Given the description of an element on the screen output the (x, y) to click on. 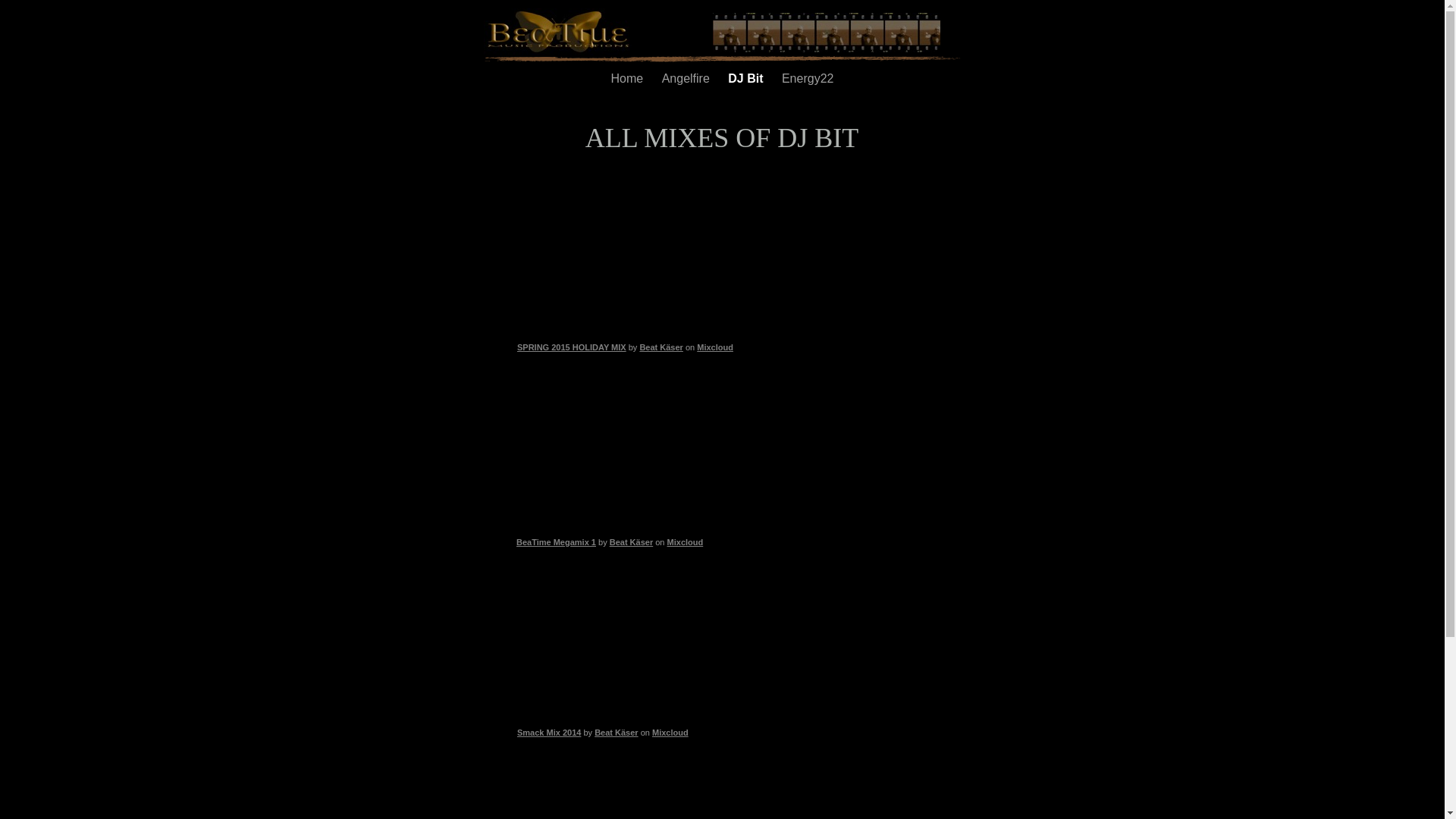
Energy22 Element type: text (807, 78)
DJ Bit Element type: text (747, 78)
Angelfire Element type: text (687, 78)
Home Element type: text (628, 78)
